Given the description of an element on the screen output the (x, y) to click on. 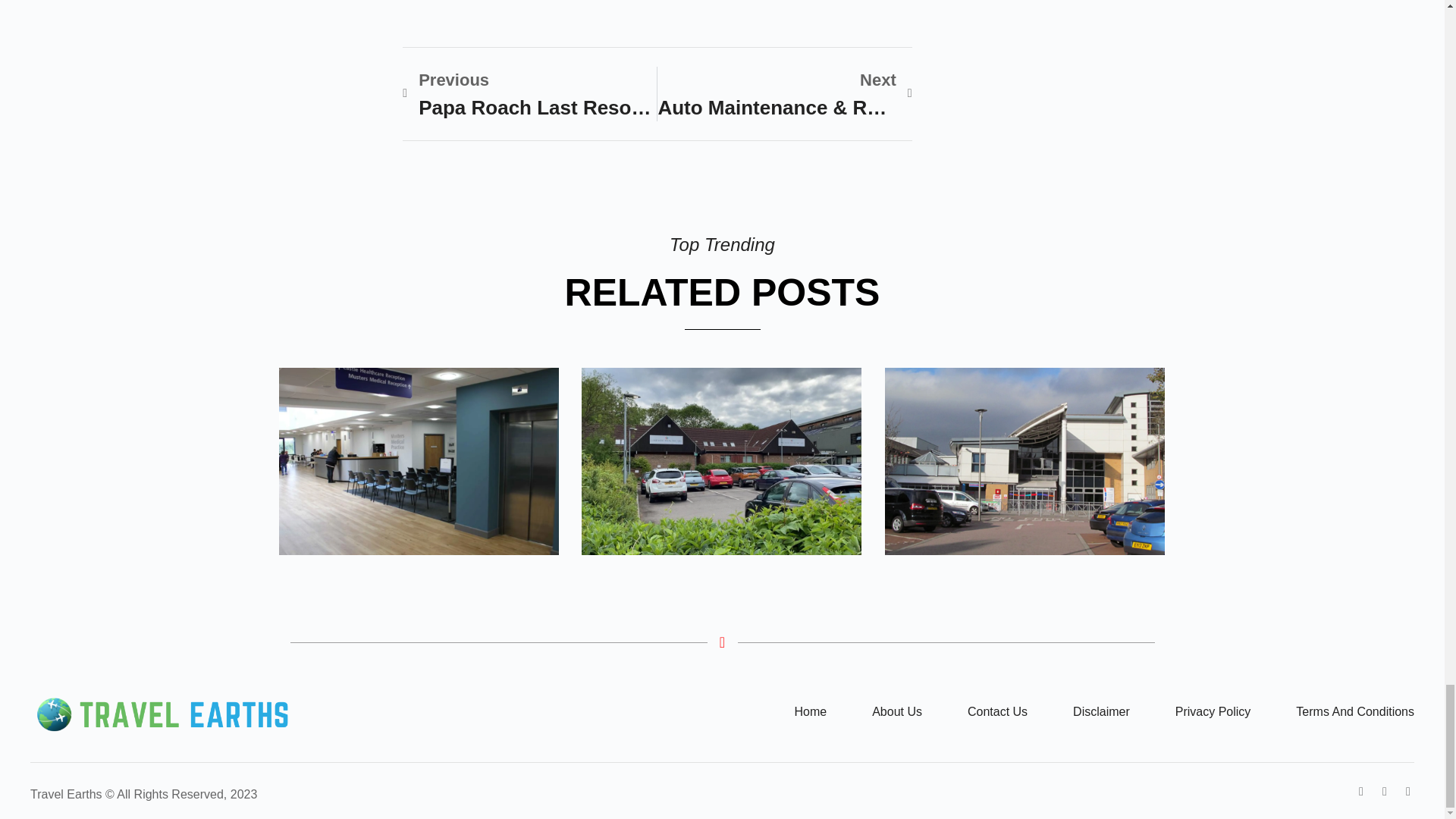
homerton university hospital (1023, 461)
Lakeside Healthcare Corby (720, 461)
castle healthcare (419, 461)
